Given the description of an element on the screen output the (x, y) to click on. 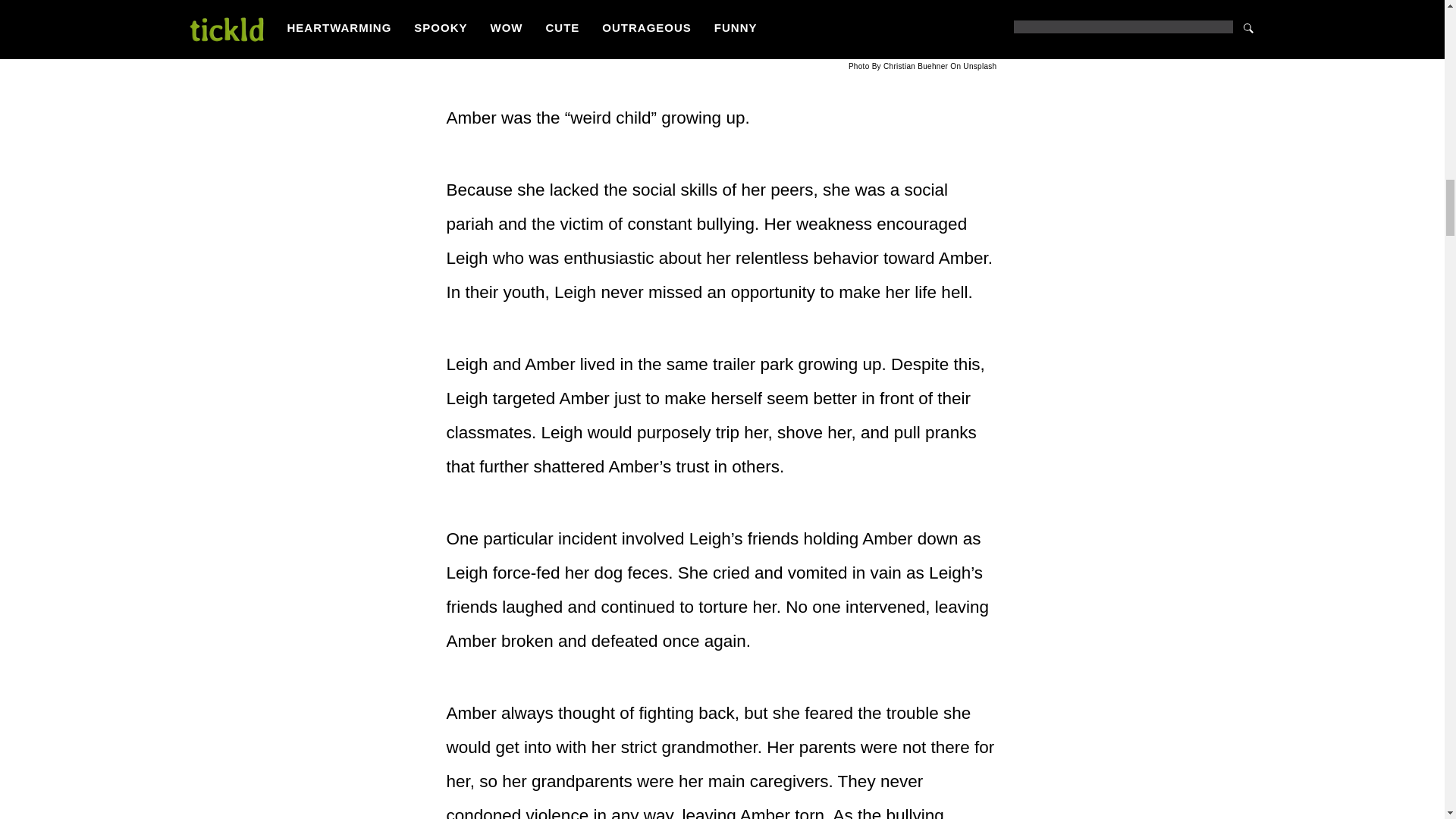
Christian Buehner (915, 66)
Unsplash (978, 66)
